Given the description of an element on the screen output the (x, y) to click on. 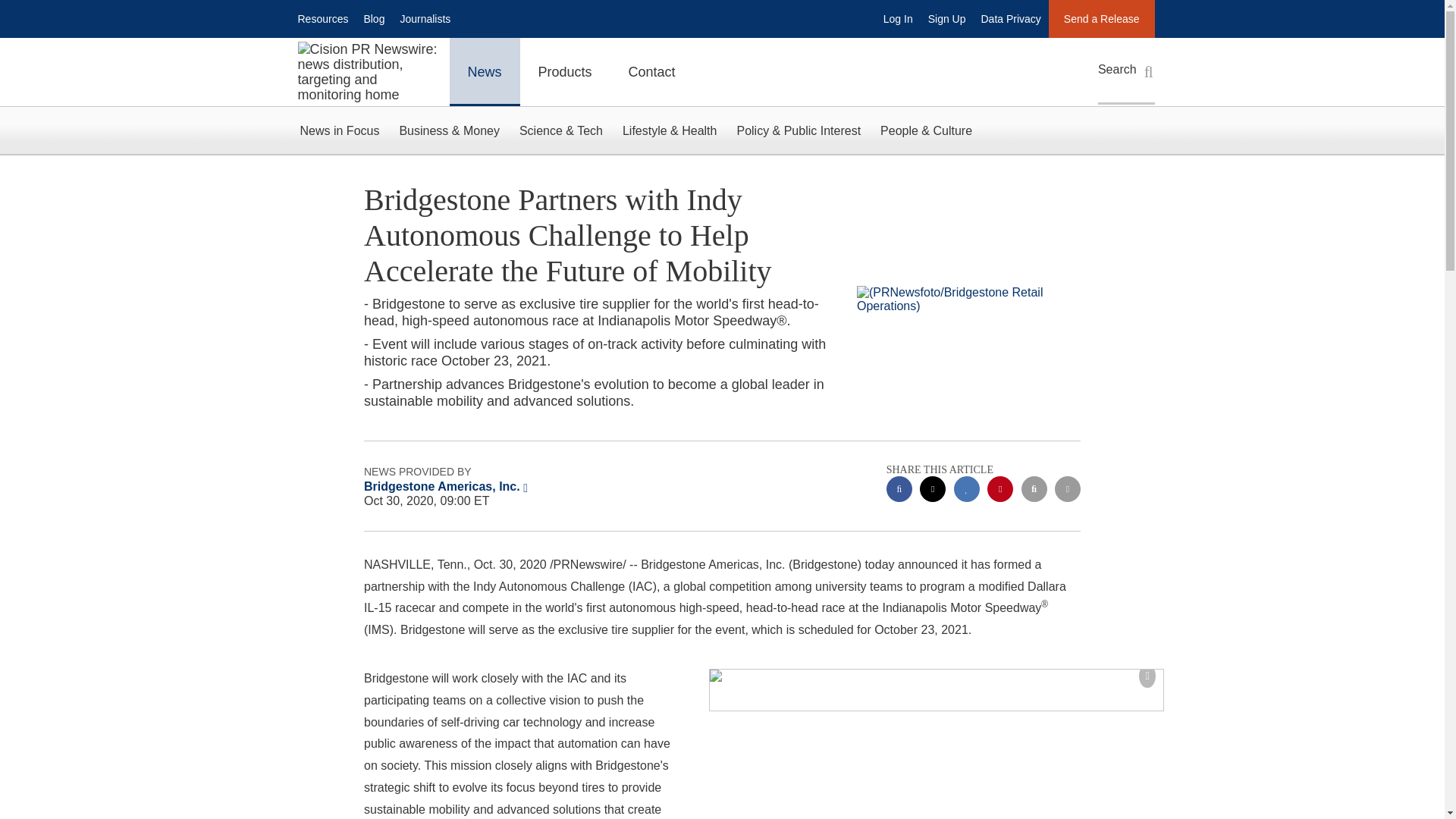
Log In (898, 18)
Journalists (424, 18)
News in Focus (338, 130)
News (483, 71)
Data Privacy (1011, 18)
Sign Up (947, 18)
Blog (373, 18)
News in Focus (338, 130)
Send a Release (1101, 18)
Products (564, 71)
Resources (322, 18)
Contact (652, 71)
